Given the description of an element on the screen output the (x, y) to click on. 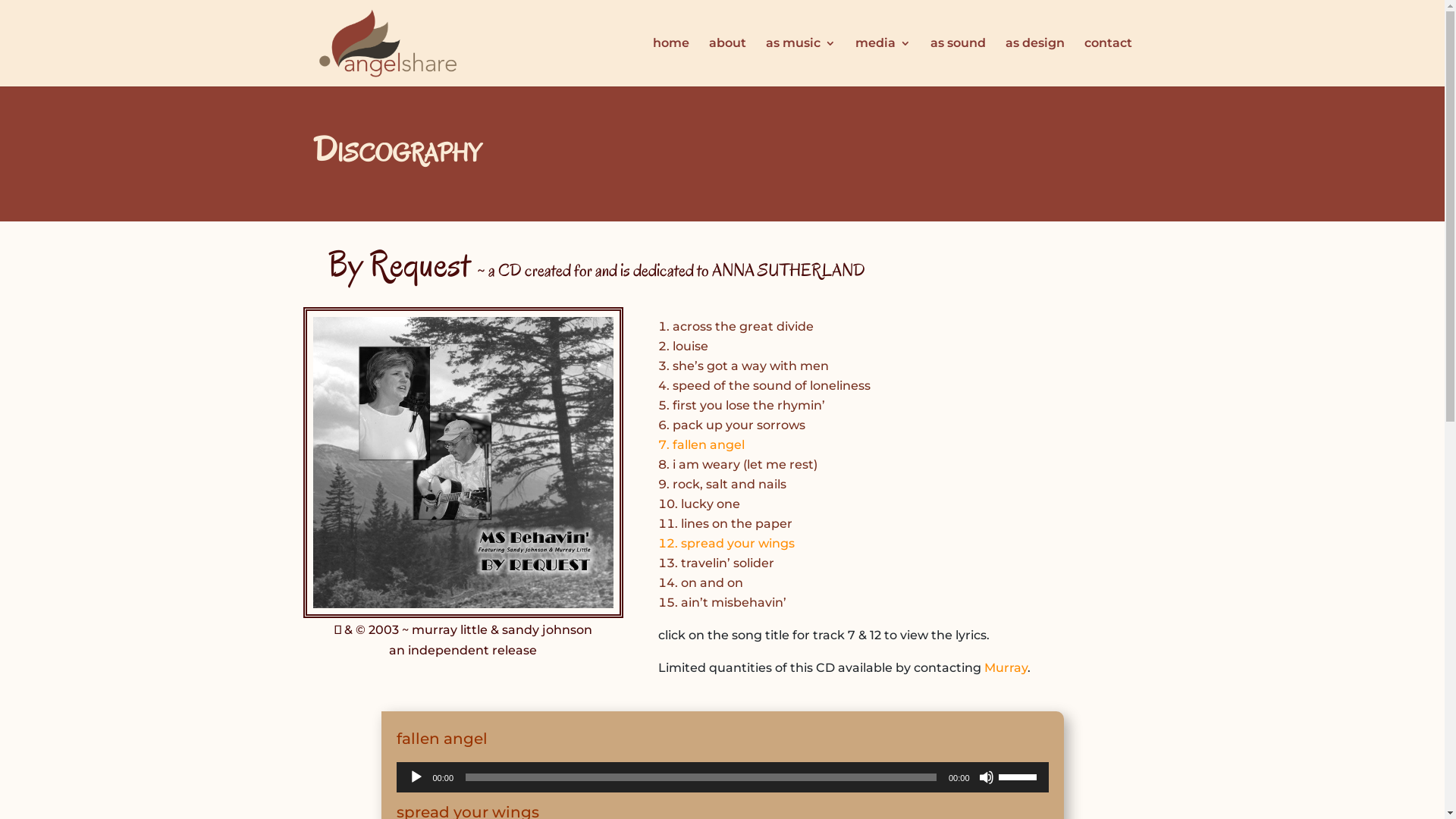
as design Element type: text (1034, 61)
home Element type: text (670, 61)
Use Up/Down Arrow keys to increase or decrease volume. Element type: text (1018, 775)
Play Element type: hover (415, 776)
contact Element type: text (1108, 61)
as sound Element type: text (957, 61)
about Element type: text (726, 61)
Murray Element type: text (1005, 667)
media Element type: text (882, 61)
as music Element type: text (800, 61)
Mute Element type: hover (985, 776)
